Given the description of an element on the screen output the (x, y) to click on. 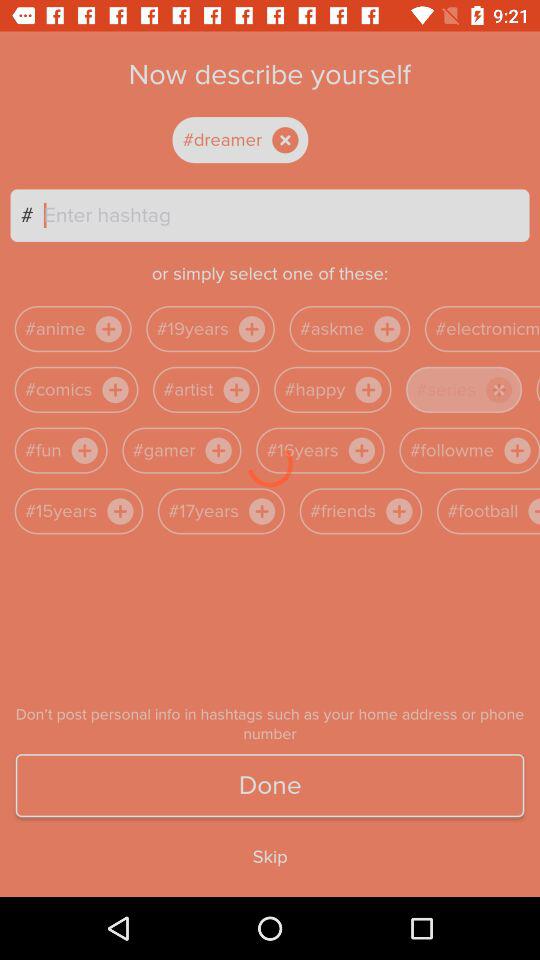
already selected hashtag (257, 140)
